Given the description of an element on the screen output the (x, y) to click on. 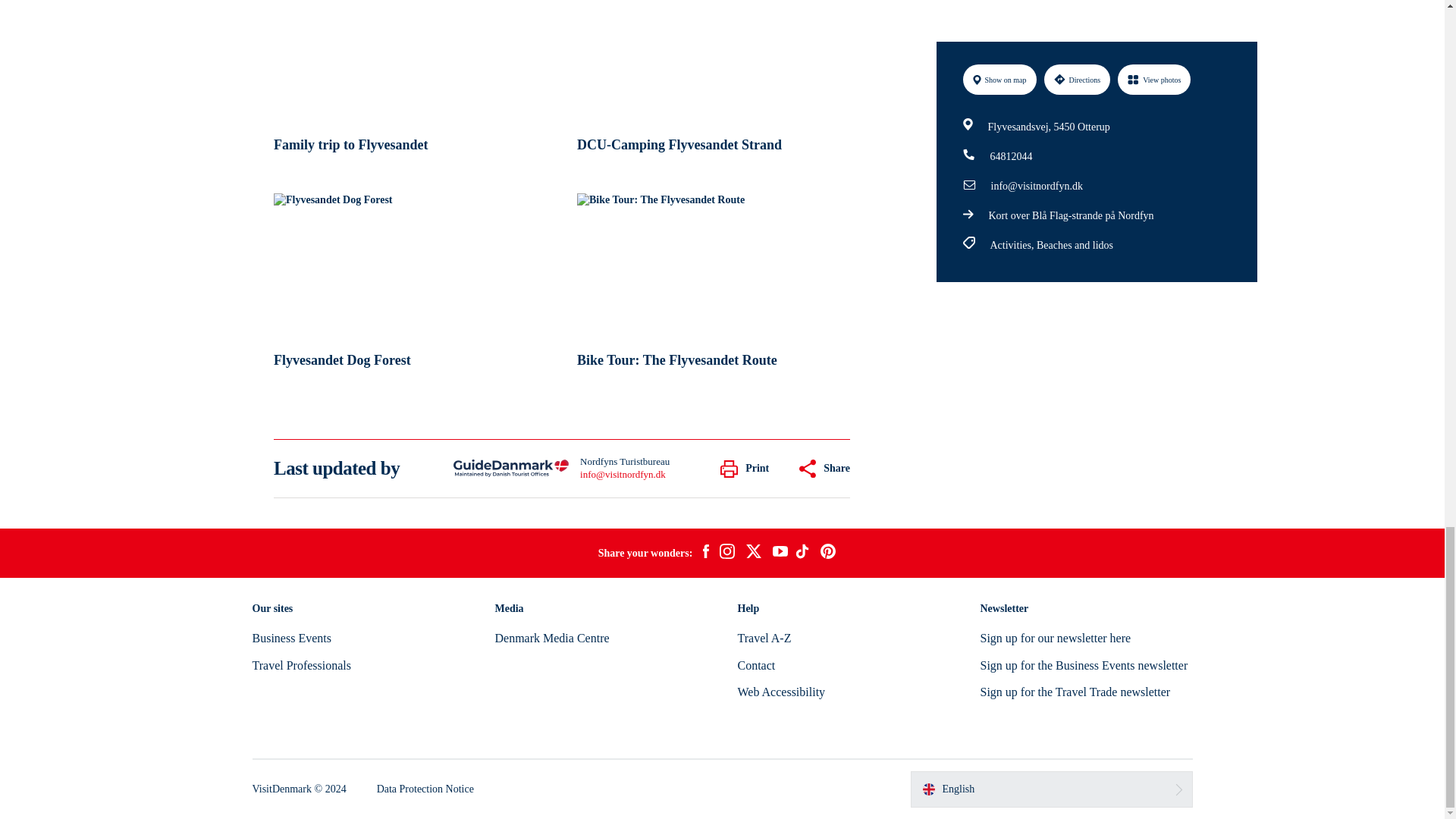
youtube (780, 553)
DCU-Camping Flyvesandet Strand (713, 81)
Bike Tour: The Flyvesandet Route (713, 285)
Travel A-Z (763, 637)
twitter (753, 553)
pinterest (828, 553)
Contact (755, 665)
Web Accessibility (780, 691)
tiktok (804, 553)
instagram (726, 553)
